Given the description of an element on the screen output the (x, y) to click on. 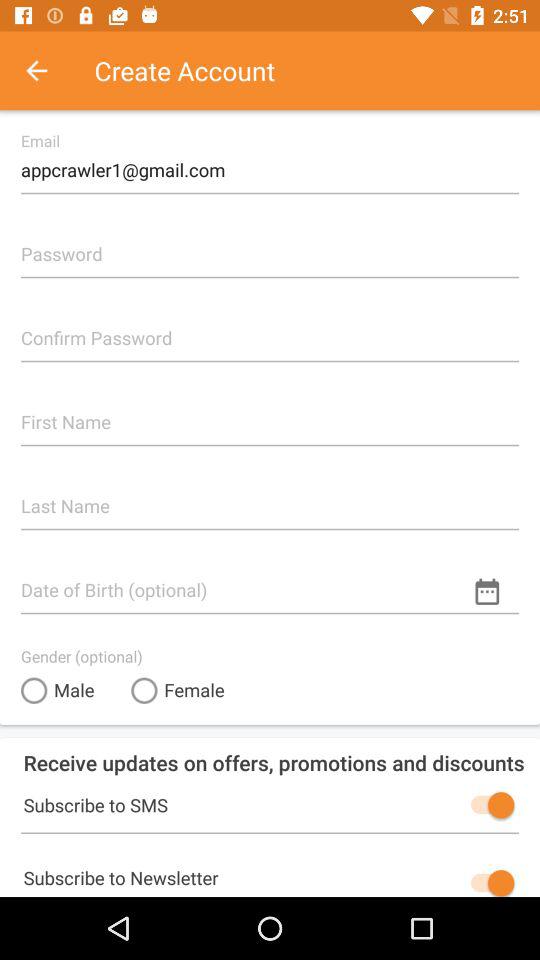
type the last name (270, 497)
